Given the description of an element on the screen output the (x, y) to click on. 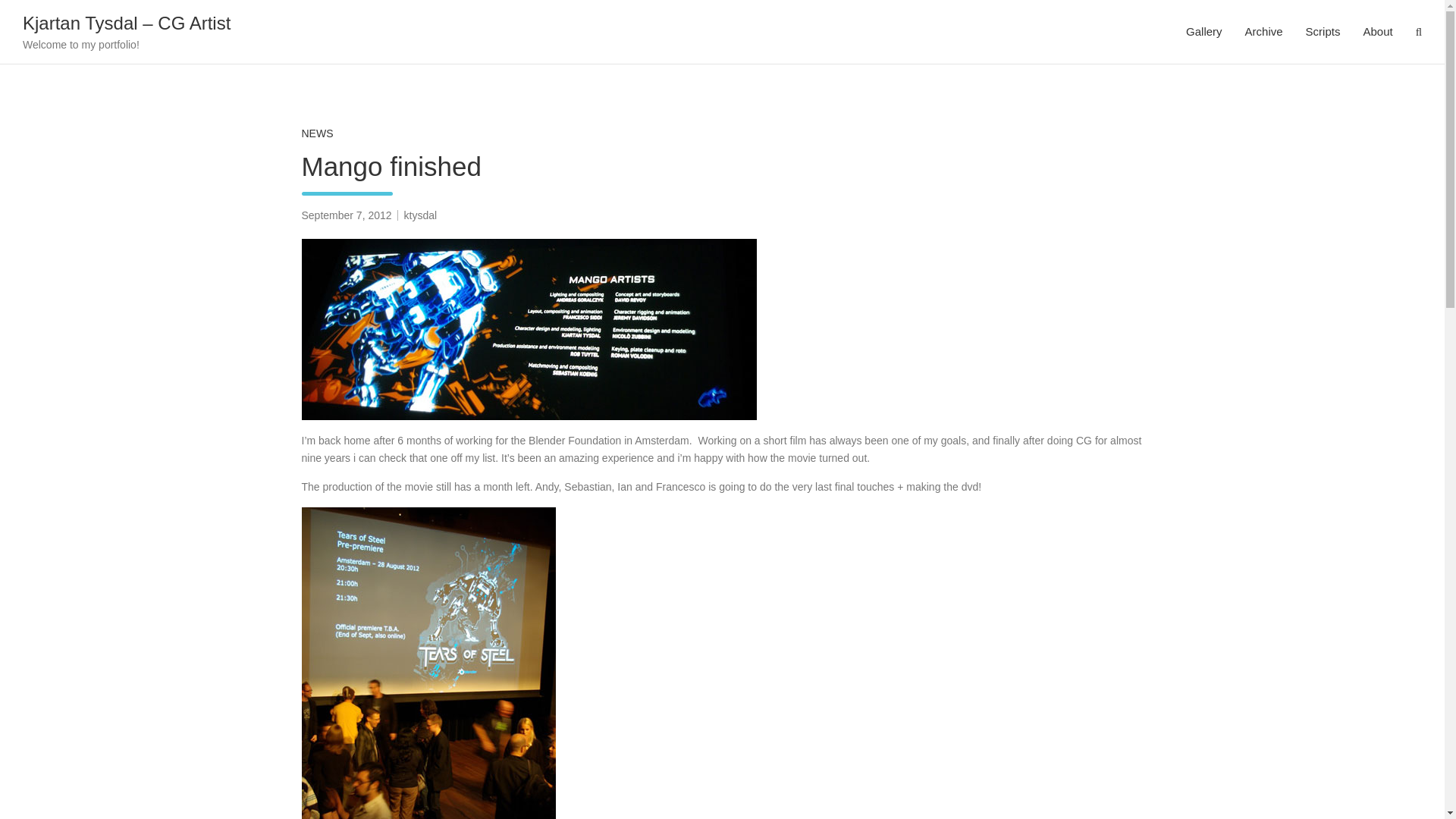
Mango Pre-Premiere (529, 329)
NEWS (317, 133)
Scripts (1323, 31)
September 7, 2012 (346, 215)
Archive (1263, 31)
Gallery (1203, 31)
ktysdal (421, 215)
Mango finished (346, 215)
